Given the description of an element on the screen output the (x, y) to click on. 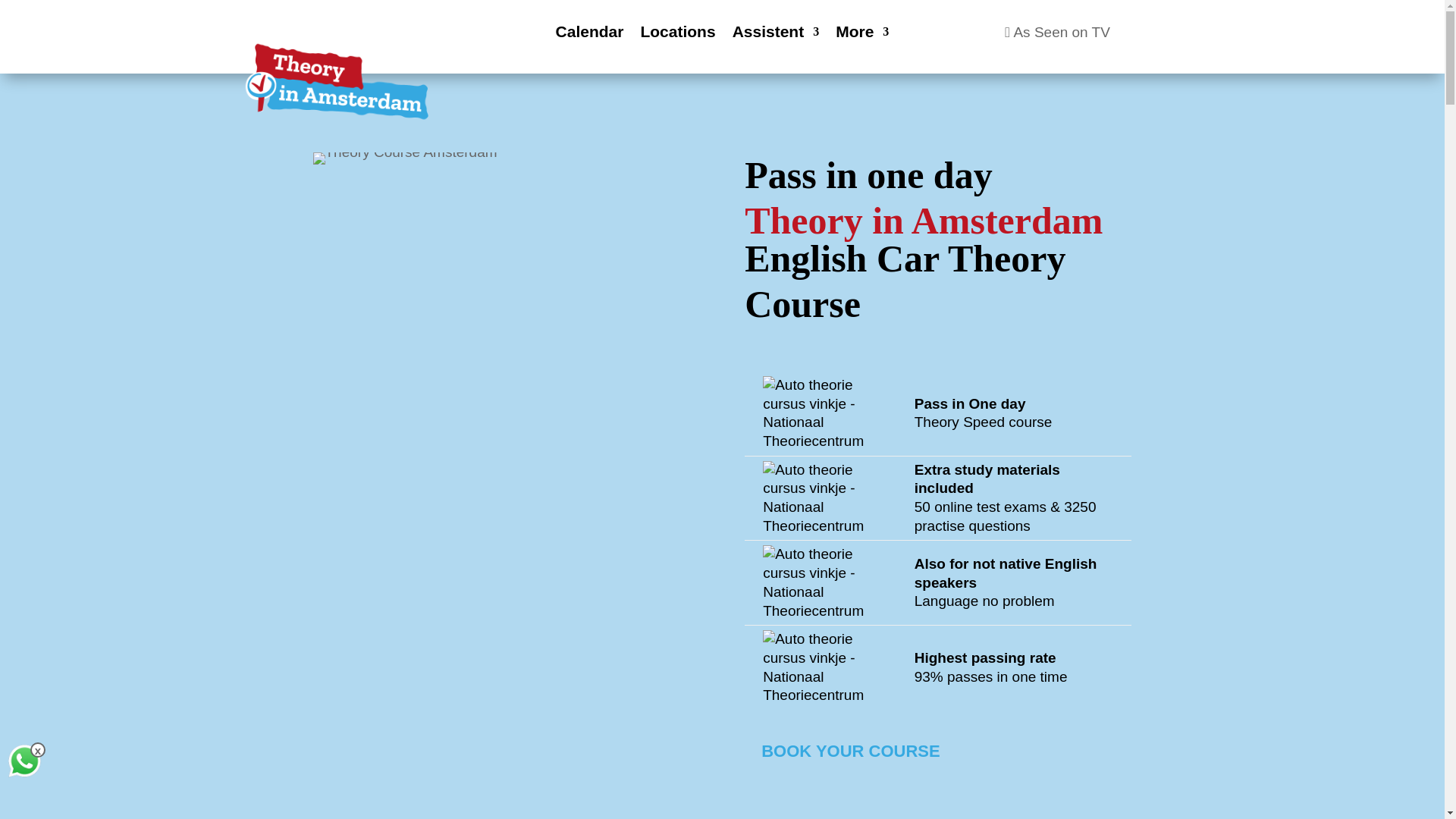
Calendar (590, 34)
Assistent (775, 34)
Locations (677, 34)
Theory in Amsterdam Logo (337, 82)
Theory Course Amsterdam (404, 158)
More (861, 34)
BOOK YOUR COURSE (850, 751)
